Given the description of an element on the screen output the (x, y) to click on. 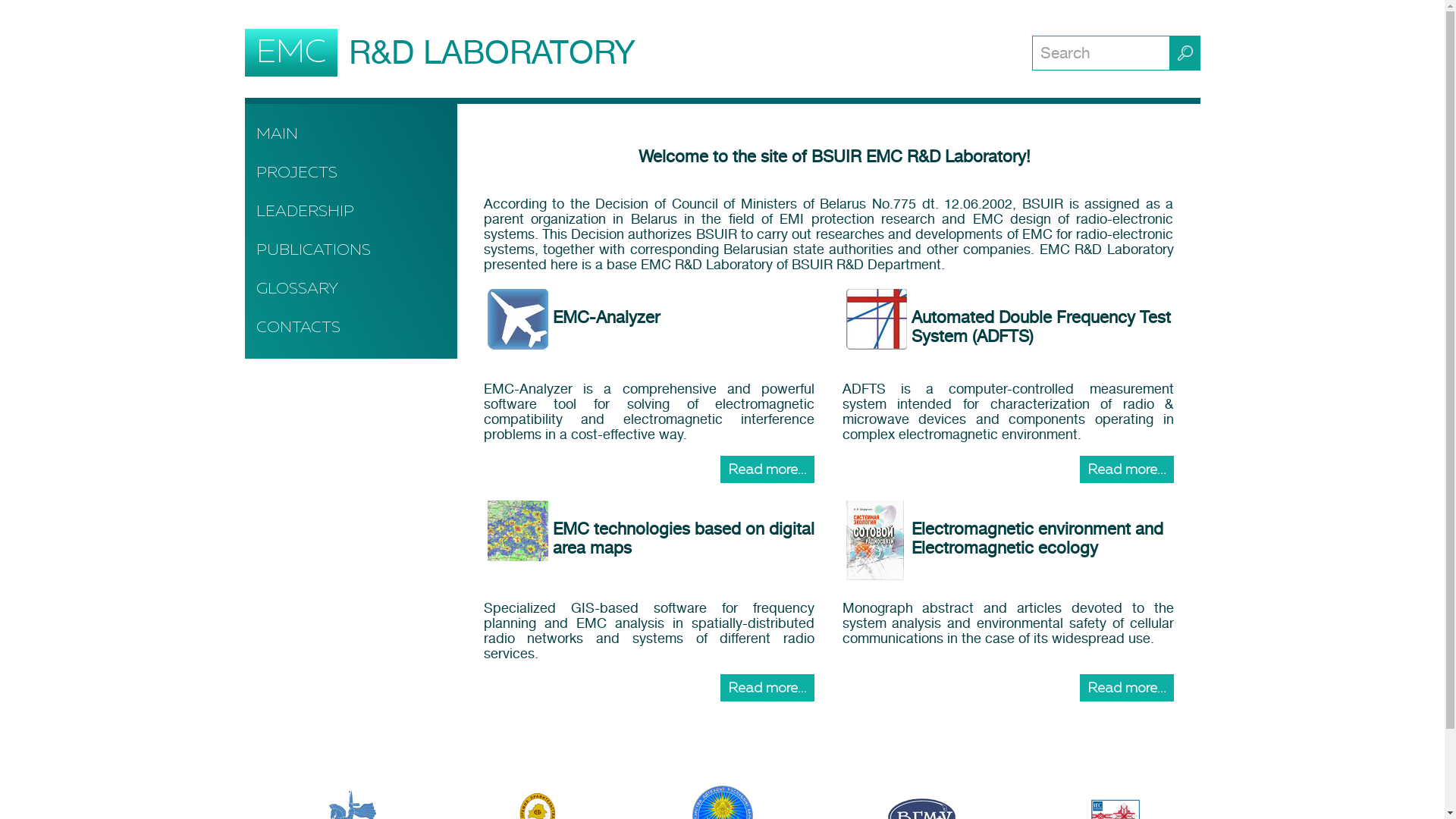
Read more... Element type: text (767, 687)
PROJECTS Element type: text (350, 172)
  Element type: text (1184, 51)
LEADERSHIP Element type: text (350, 211)
Read more... Element type: text (1126, 469)
EMC Element type: text (290, 52)
Search Element type: text (1100, 51)
Read more... Element type: text (767, 469)
GLOSSARY Element type: text (350, 288)
CONTACTS Element type: text (350, 327)
PUBLICATIONS Element type: text (350, 250)
MAIN Element type: text (350, 134)
Read more... Element type: text (1126, 687)
